Given the description of an element on the screen output the (x, y) to click on. 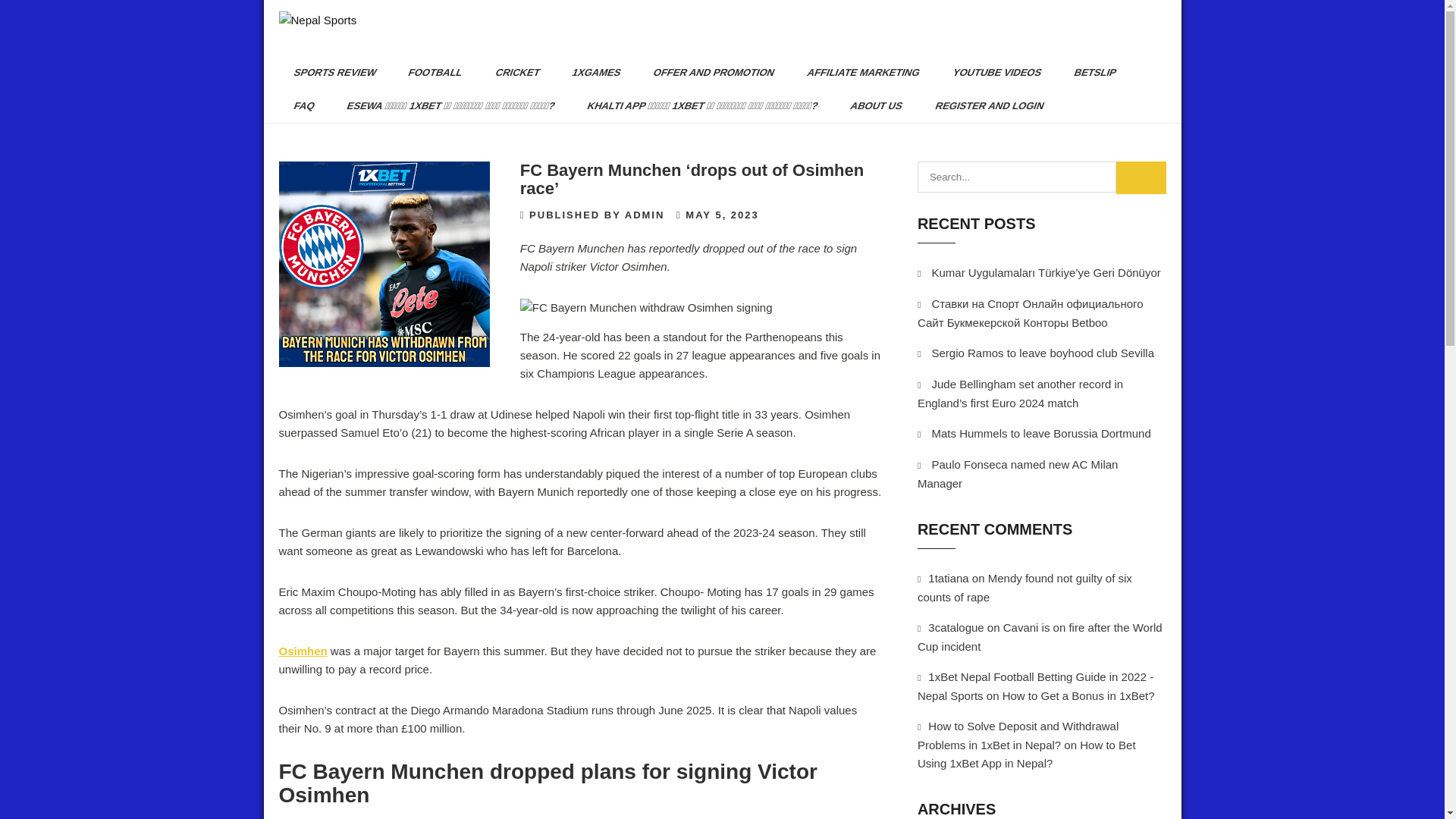
Mendy found not guilty of six counts of rape (1024, 587)
OFFER AND PROMOTION (707, 72)
AFFILIATE MARKETING (857, 72)
1xBet Nepal Football Betting Guide in 2022 - Nepal Sports (1035, 685)
How to Get a Bonus in 1xBet? (1078, 695)
Paulo Fonseca named new AC Milan Manager (1017, 473)
Search (1141, 177)
SPORTS REVIEW (328, 72)
Cavani is on fire after the World Cup incident (1039, 636)
